Given the description of an element on the screen output the (x, y) to click on. 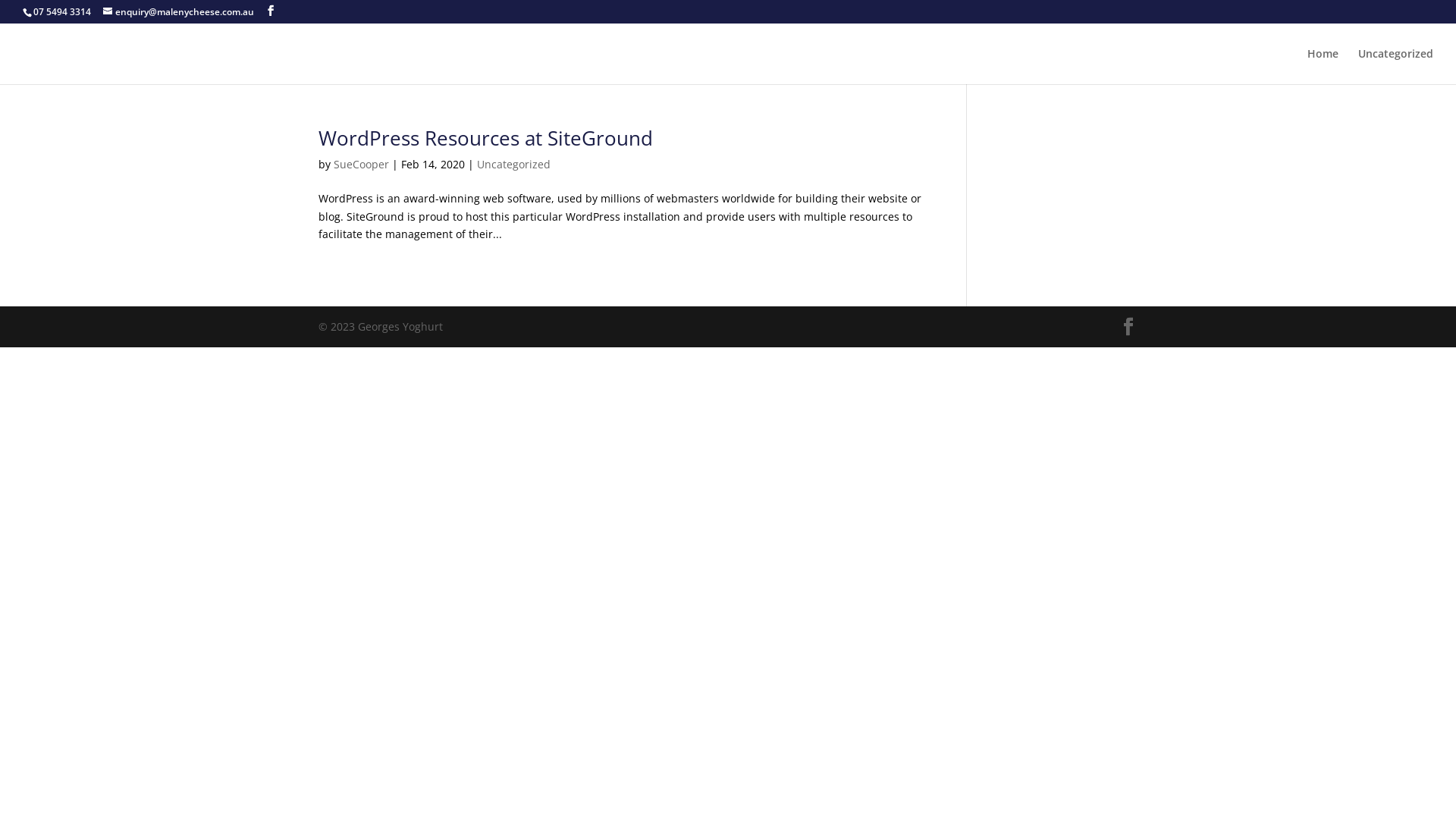
enquiry@malenycheese.com.au Element type: text (178, 11)
WordPress Resources at SiteGround Element type: text (485, 137)
Uncategorized Element type: text (513, 163)
Uncategorized Element type: text (1395, 66)
SueCooper Element type: text (361, 163)
Home Element type: text (1322, 66)
